Given the description of an element on the screen output the (x, y) to click on. 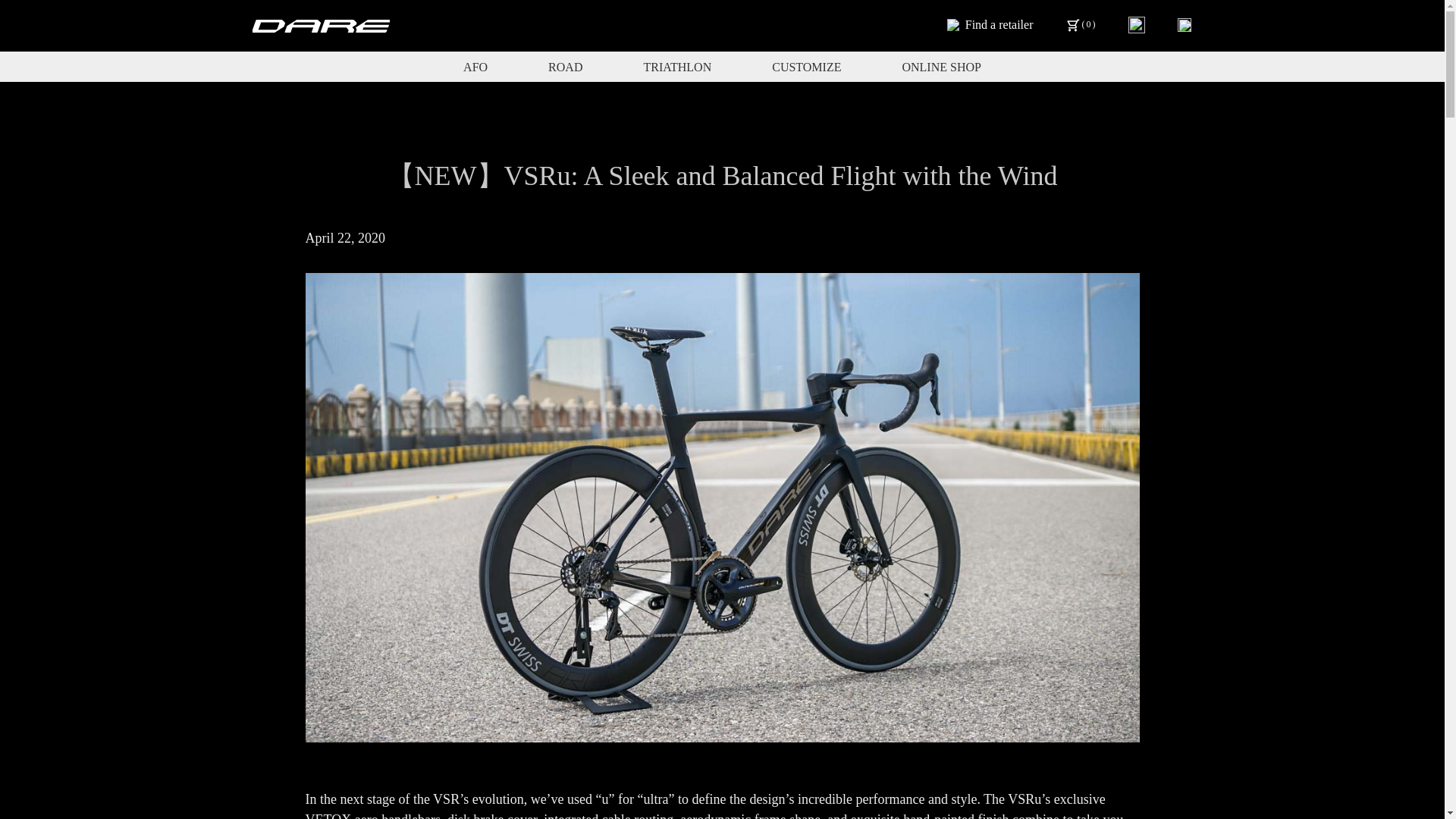
CUSTOMIZE (806, 66)
ROAD (565, 66)
Find a retailer (989, 24)
DARE Bikes (320, 25)
AFO (475, 66)
TRIATHLON (677, 66)
